Given the description of an element on the screen output the (x, y) to click on. 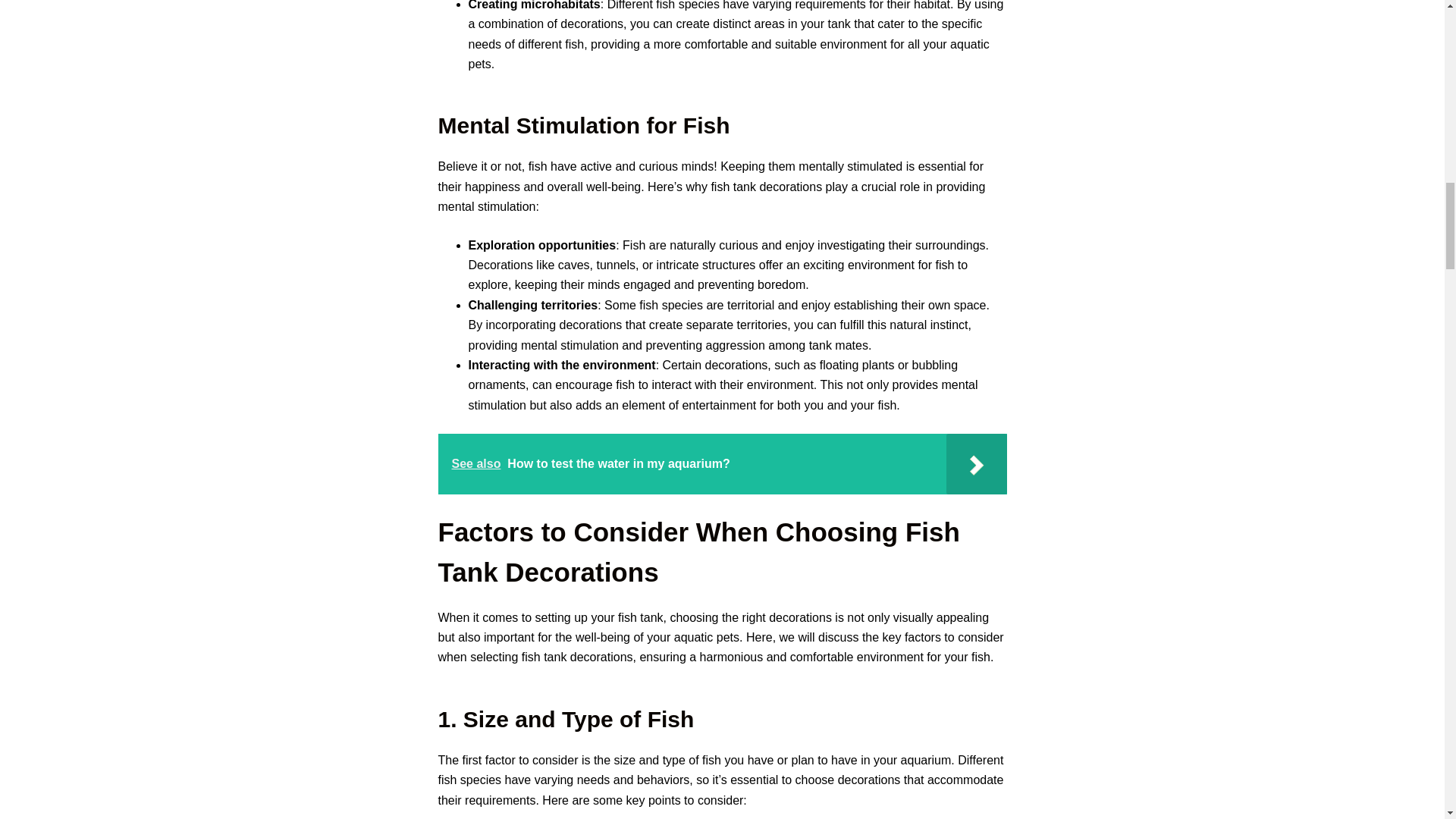
See also  How to test the water in my aquarium? (722, 464)
